Given the description of an element on the screen output the (x, y) to click on. 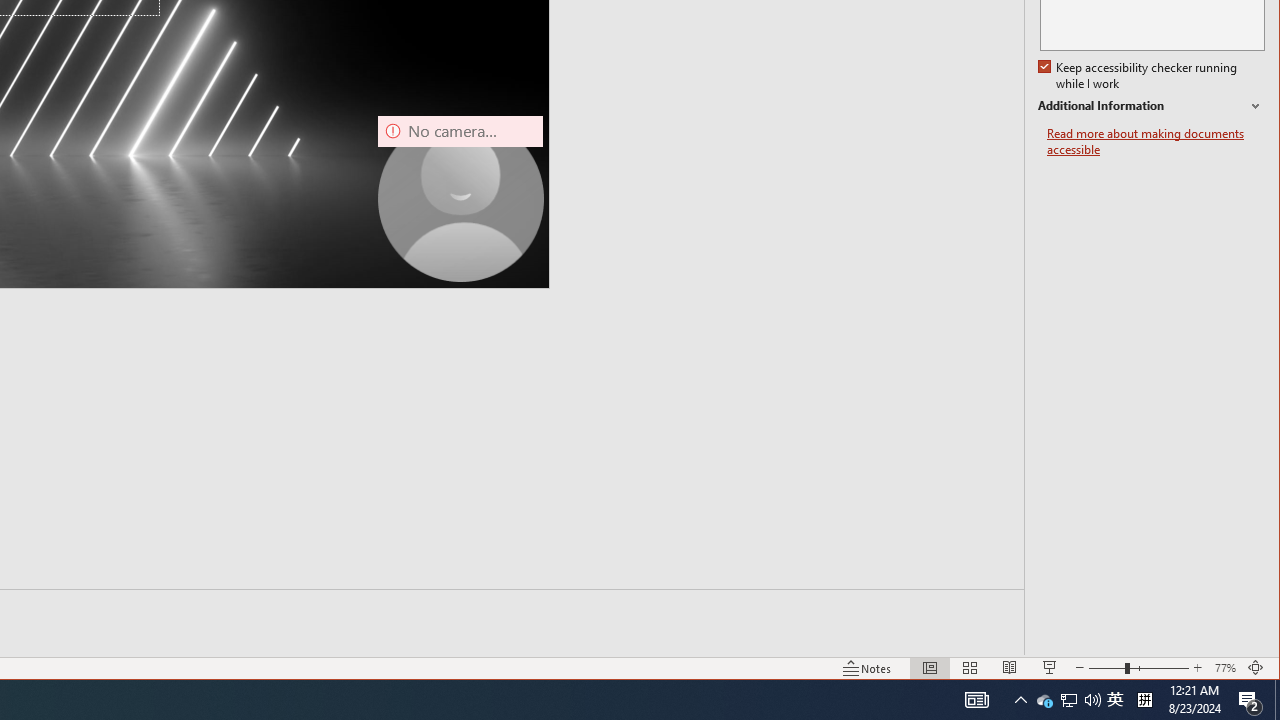
Zoom 77% (1225, 668)
Read more about making documents accessible (1044, 699)
